Given the description of an element on the screen output the (x, y) to click on. 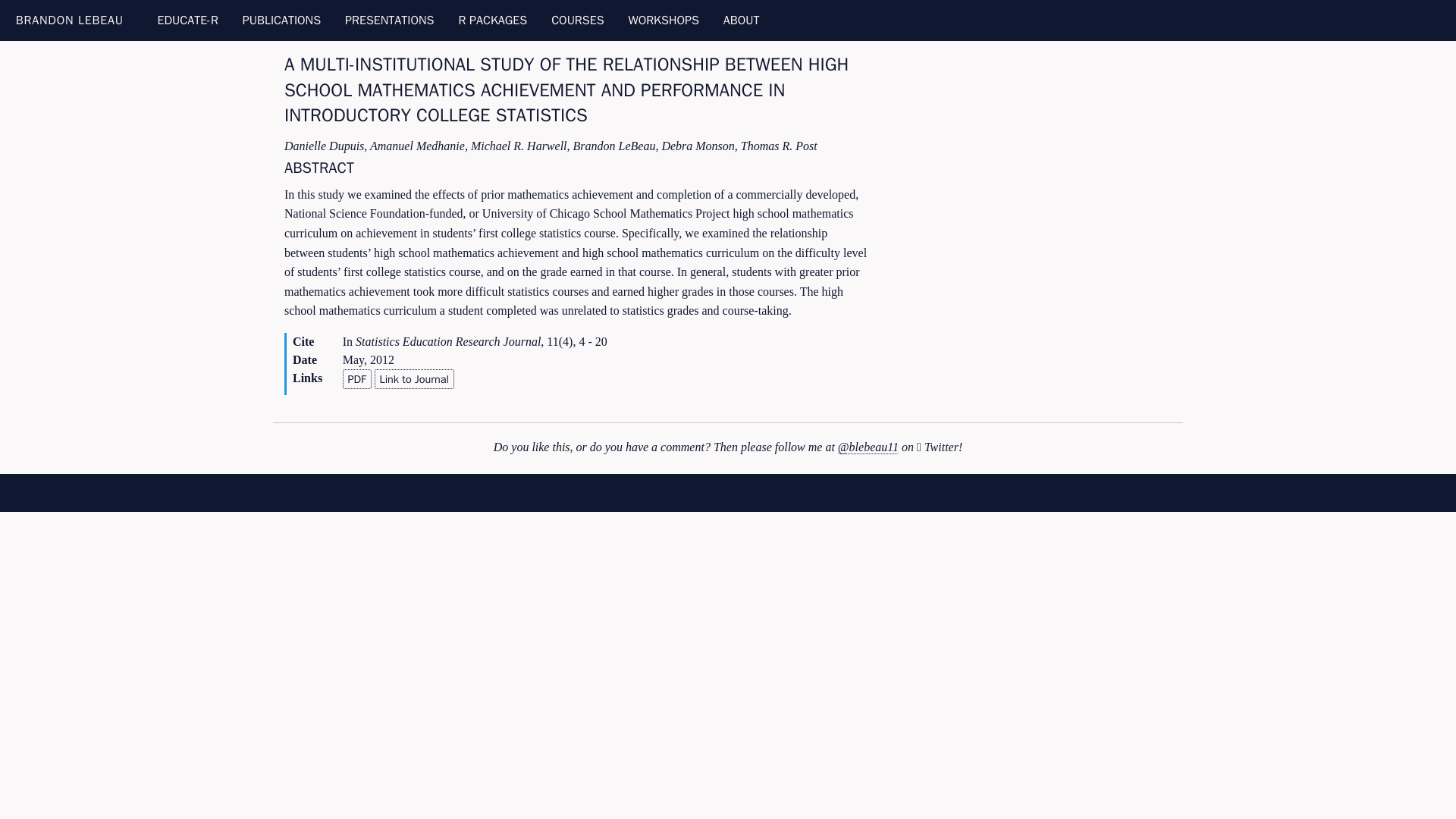
WORKSHOPS (663, 20)
PDF (356, 379)
EDUCATE-R (187, 20)
PUBLICATIONS (281, 20)
ABOUT (741, 20)
Link to Journal (414, 379)
BRANDON LEBEAU (69, 20)
COURSES (576, 20)
PRESENTATIONS (389, 20)
R PACKAGES (491, 20)
